Given the description of an element on the screen output the (x, y) to click on. 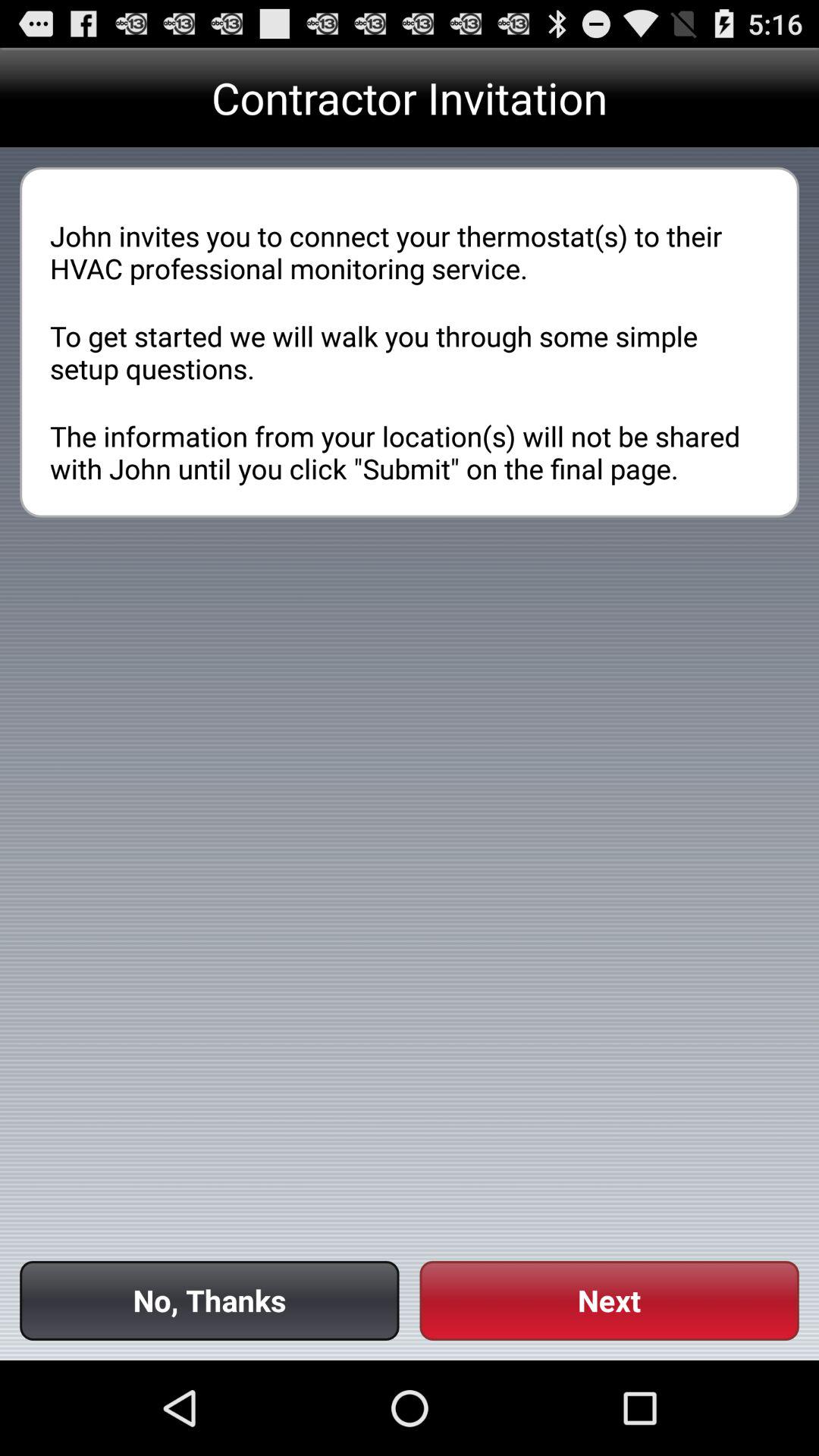
scroll until the next (609, 1300)
